Given the description of an element on the screen output the (x, y) to click on. 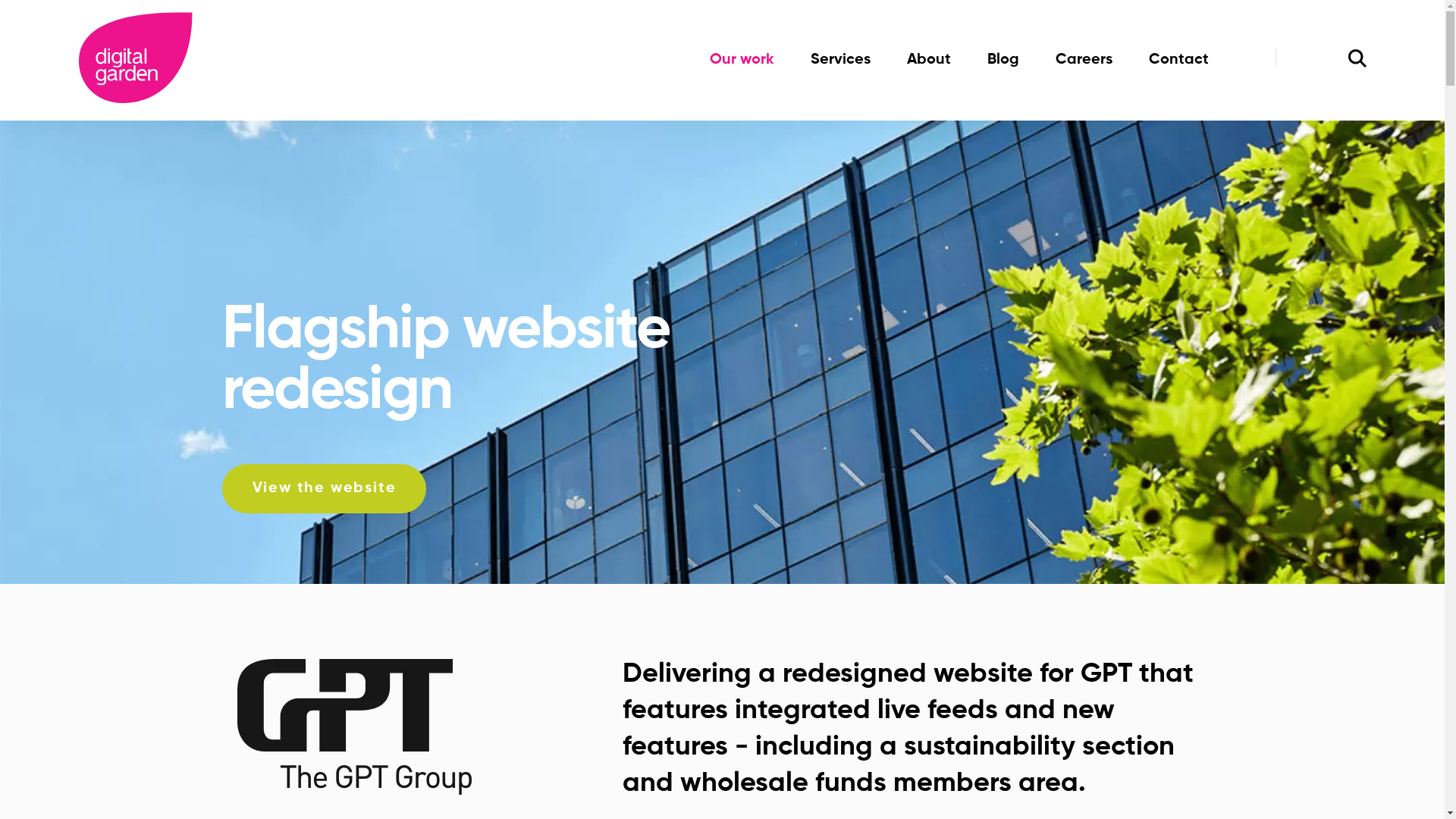
Our work Element type: text (741, 59)
About Element type: text (928, 59)
Blog Element type: text (1003, 59)
Services Element type: text (839, 59)
Contact Element type: text (1178, 59)
View the website Element type: text (323, 488)
Careers Element type: text (1083, 59)
